Given the description of an element on the screen output the (x, y) to click on. 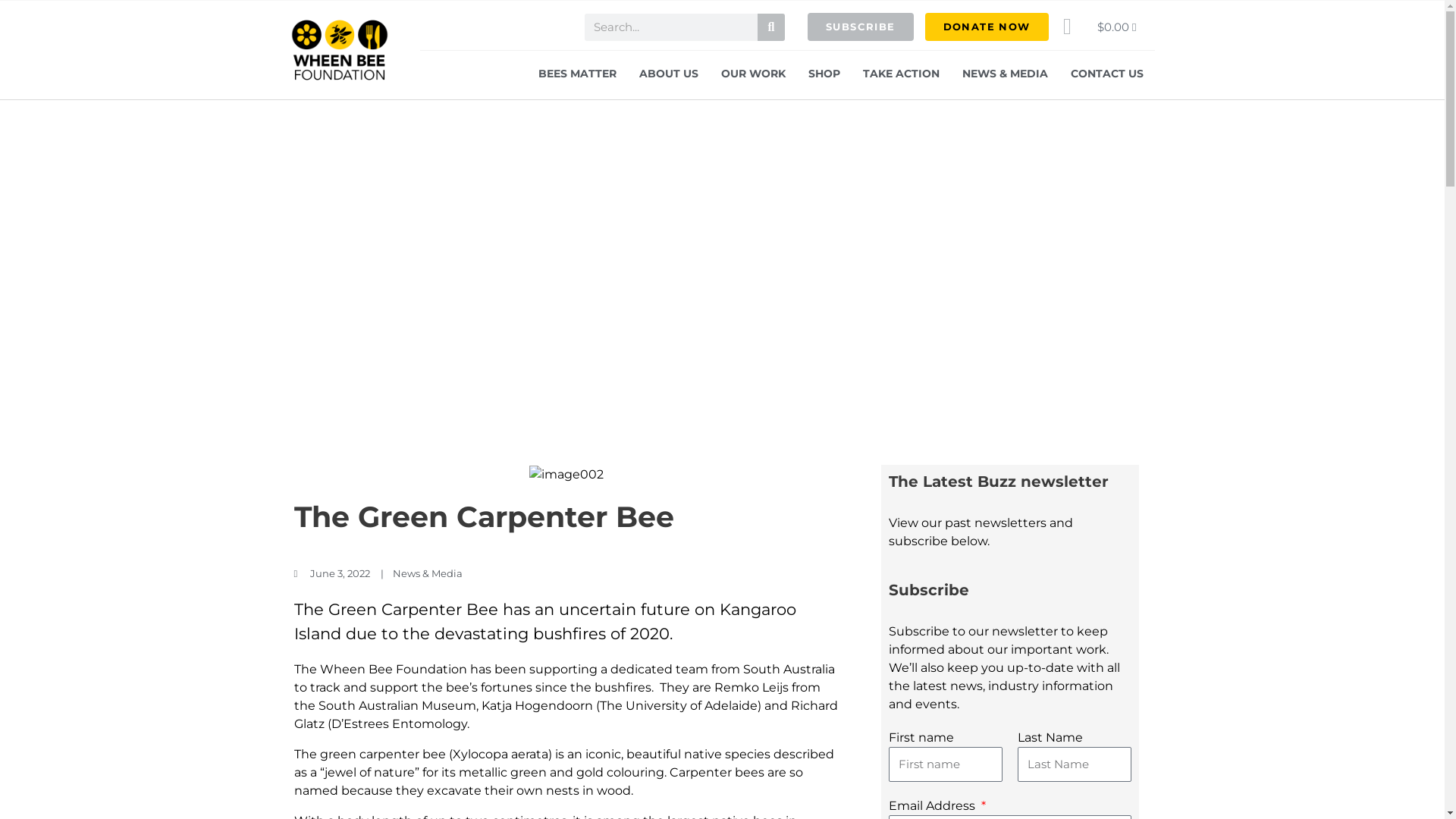
ABOUT US Element type: text (668, 72)
$0.00
Cart Element type: text (1116, 27)
SUBSCRIBE Element type: text (860, 26)
News & Media Element type: text (427, 573)
image002 Element type: hover (566, 474)
SHOP Element type: text (823, 72)
TAKE ACTION Element type: text (900, 72)
Search Element type: text (770, 26)
NEWS & MEDIA Element type: text (1004, 72)
OUR WORK Element type: text (753, 72)
DONATE NOW Element type: text (986, 26)
CONTACT US Element type: text (1106, 72)
BEES MATTER Element type: text (576, 72)
